Given the description of an element on the screen output the (x, y) to click on. 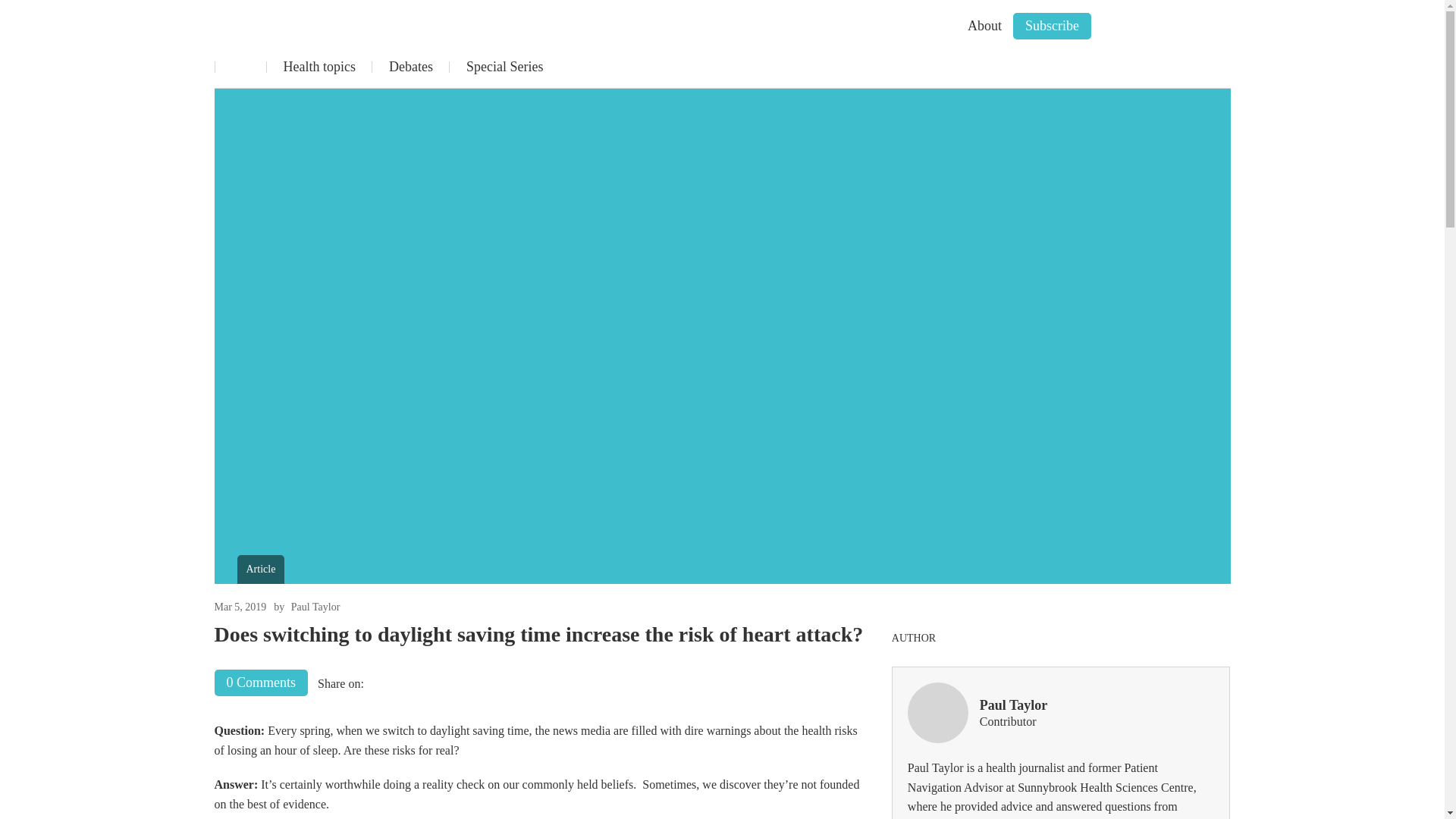
Debates (410, 67)
Health topics (318, 67)
Subscribe (1051, 26)
Healthy Debate (281, 28)
About (984, 25)
Paul Taylor (315, 606)
0 Comments (260, 682)
Healthy Debate (281, 28)
Special Series (504, 67)
